Given the description of an element on the screen output the (x, y) to click on. 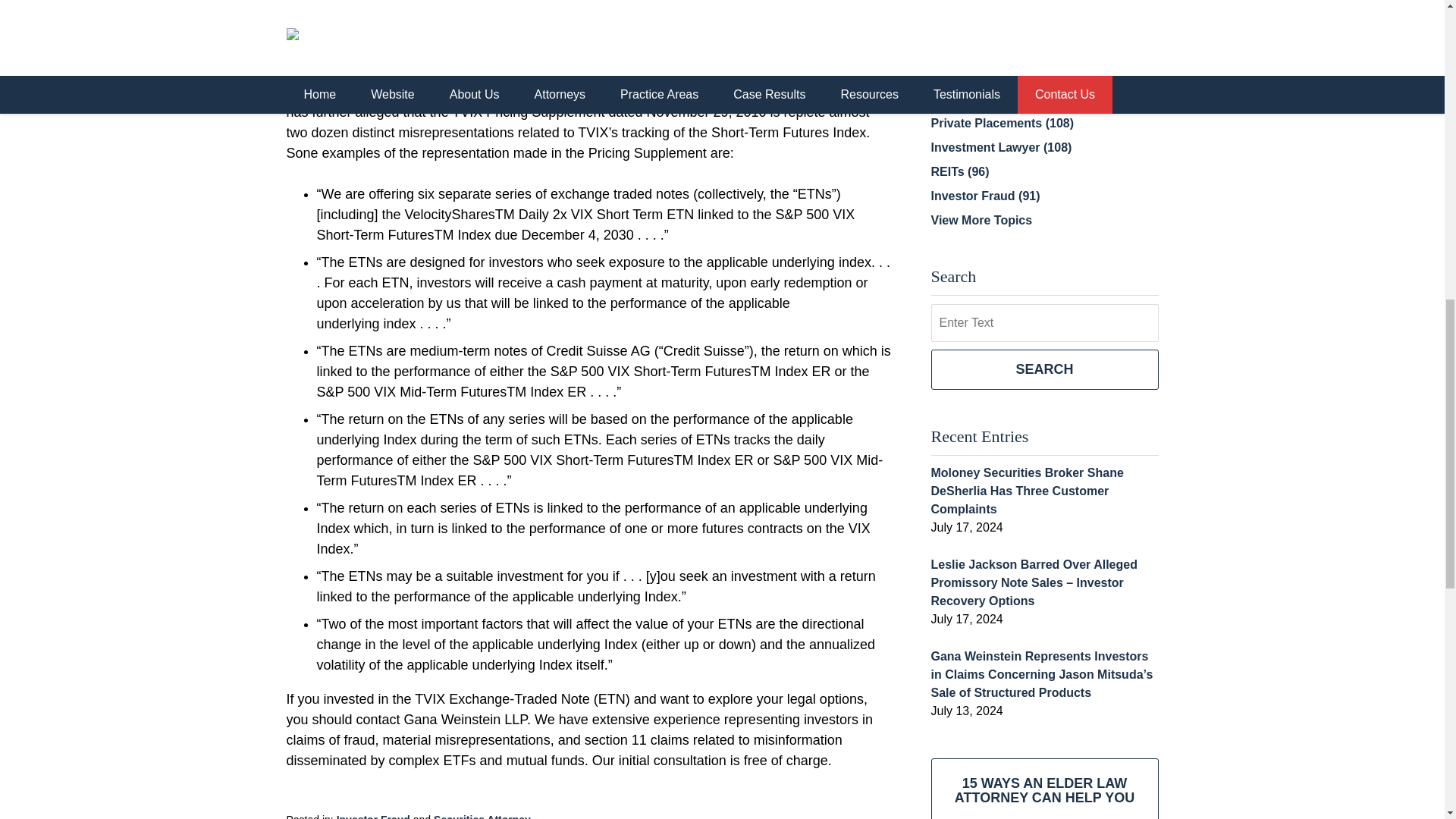
View all posts in Investor Fraud (373, 816)
Securities Attorney (482, 816)
Investor Fraud (373, 816)
View all posts in Securities Attorney (482, 816)
